Given the description of an element on the screen output the (x, y) to click on. 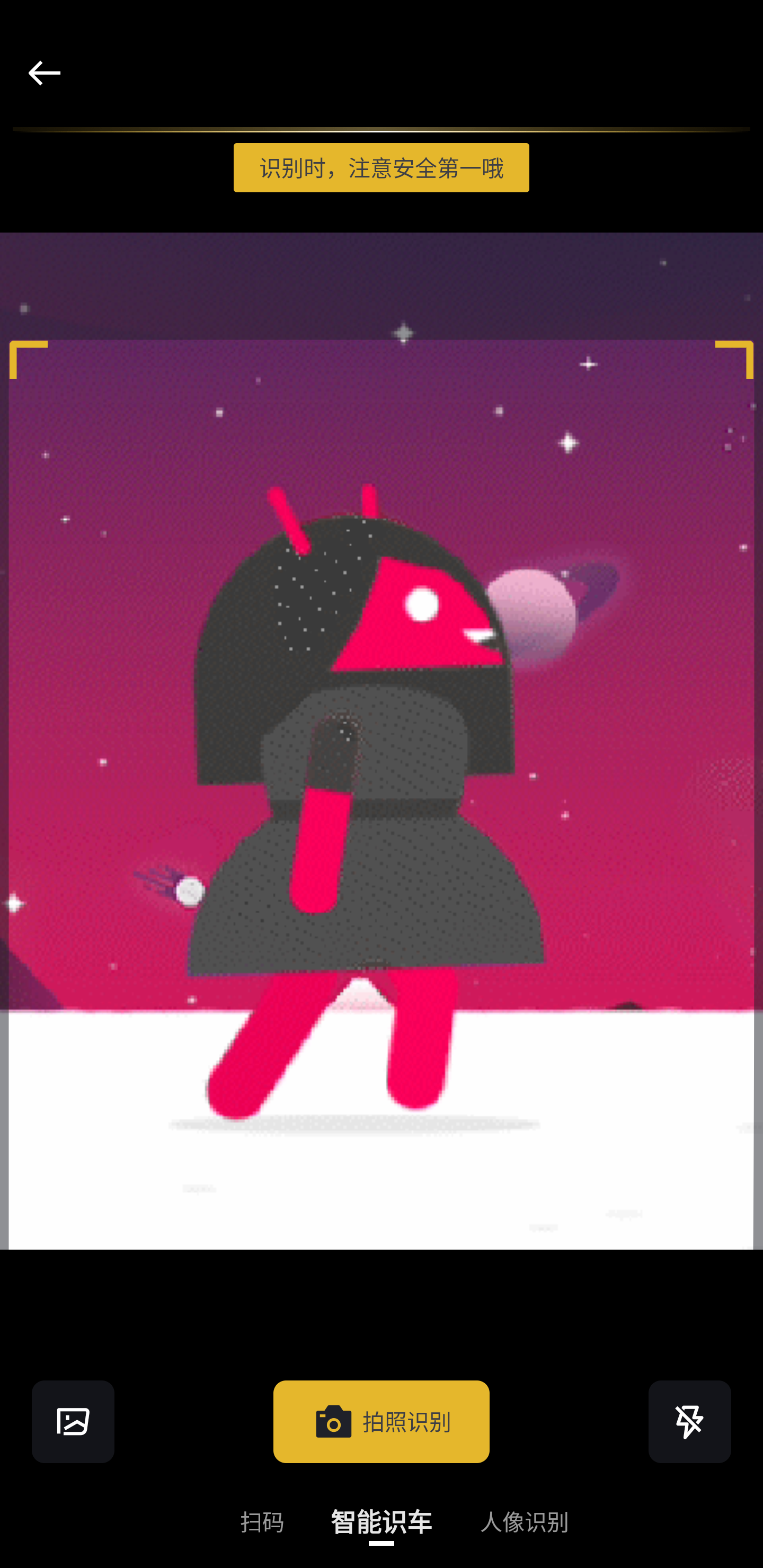
 (44, 72)
 (73, 1420)
拍照识别 (381, 1420)
 (689, 1420)
